Given the description of an element on the screen output the (x, y) to click on. 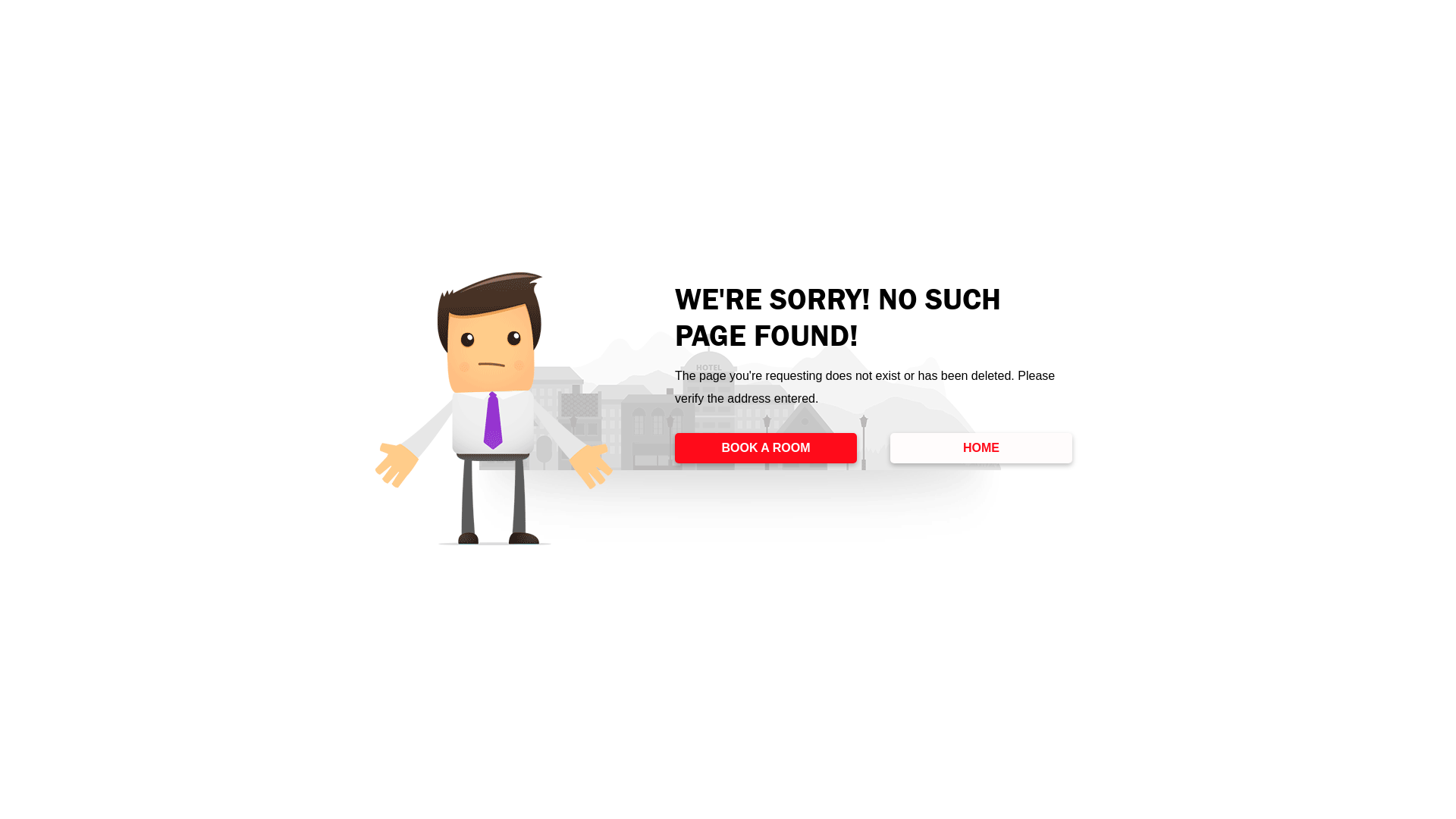
HOME Element type: text (981, 448)
BOOK A ROOM Element type: text (765, 448)
